Given the description of an element on the screen output the (x, y) to click on. 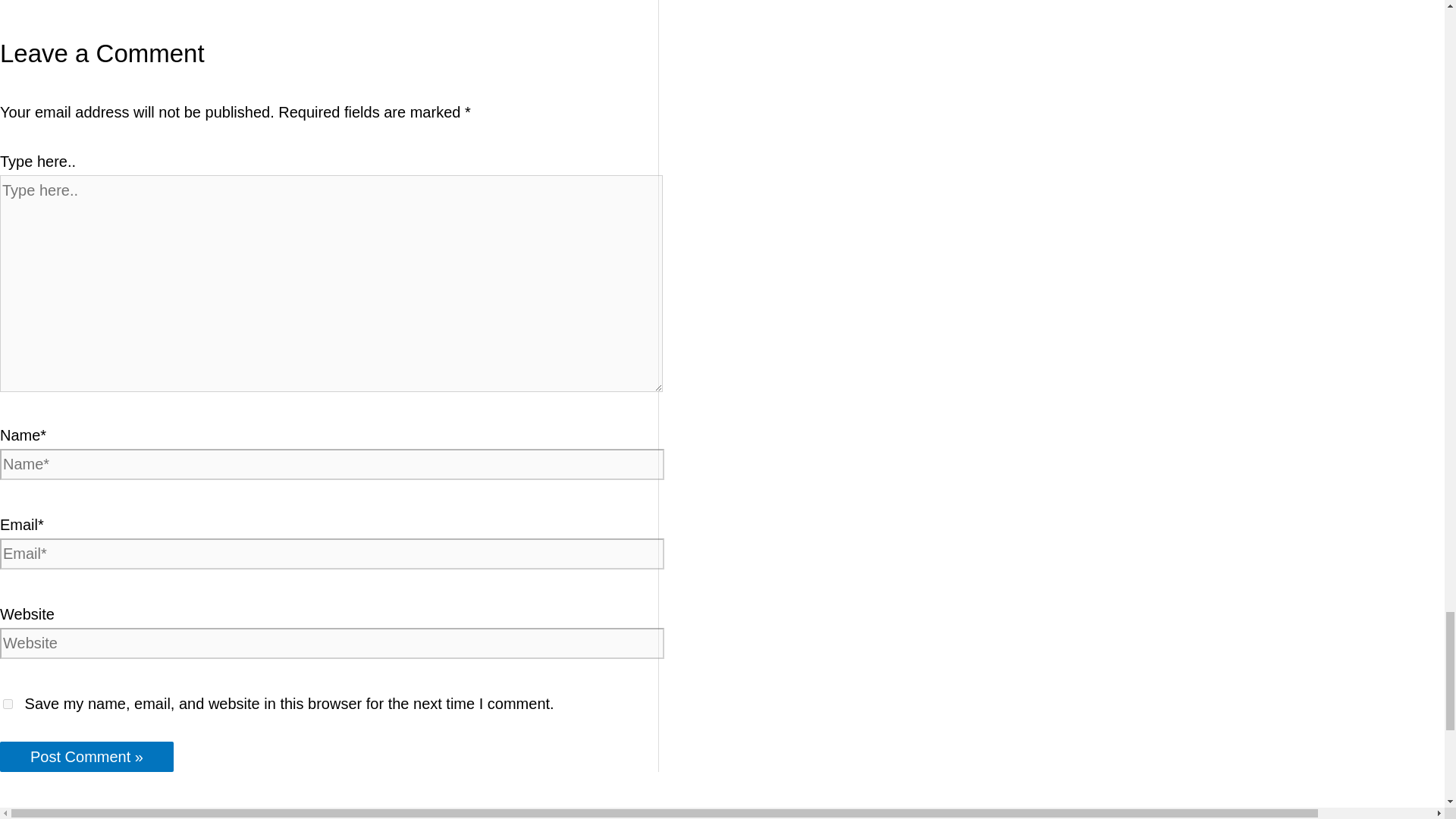
yes (7, 704)
